Given the description of an element on the screen output the (x, y) to click on. 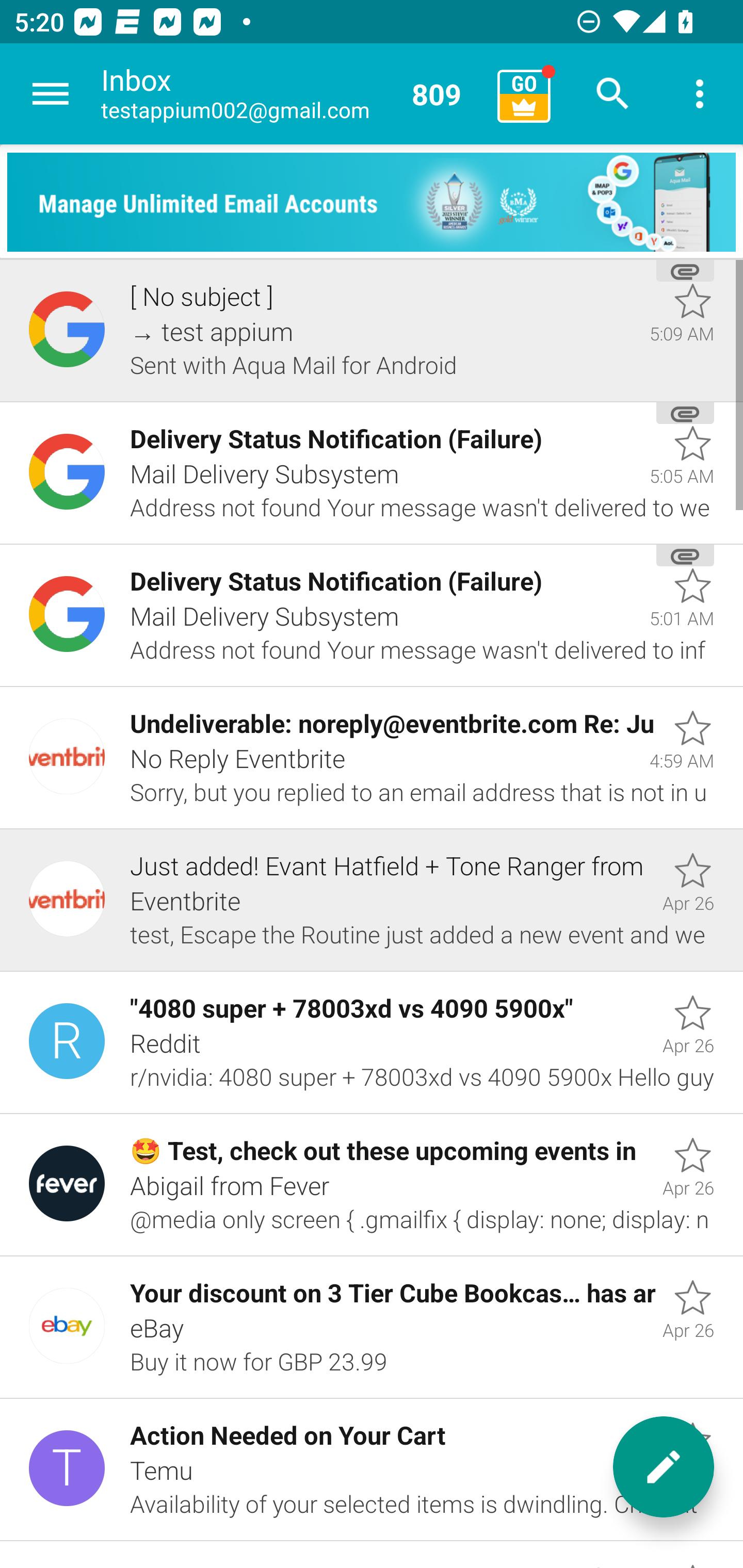
Navigate up (50, 93)
Inbox testappium002@gmail.com 809 (291, 93)
Search (612, 93)
More options (699, 93)
New message (663, 1466)
